Given the description of an element on the screen output the (x, y) to click on. 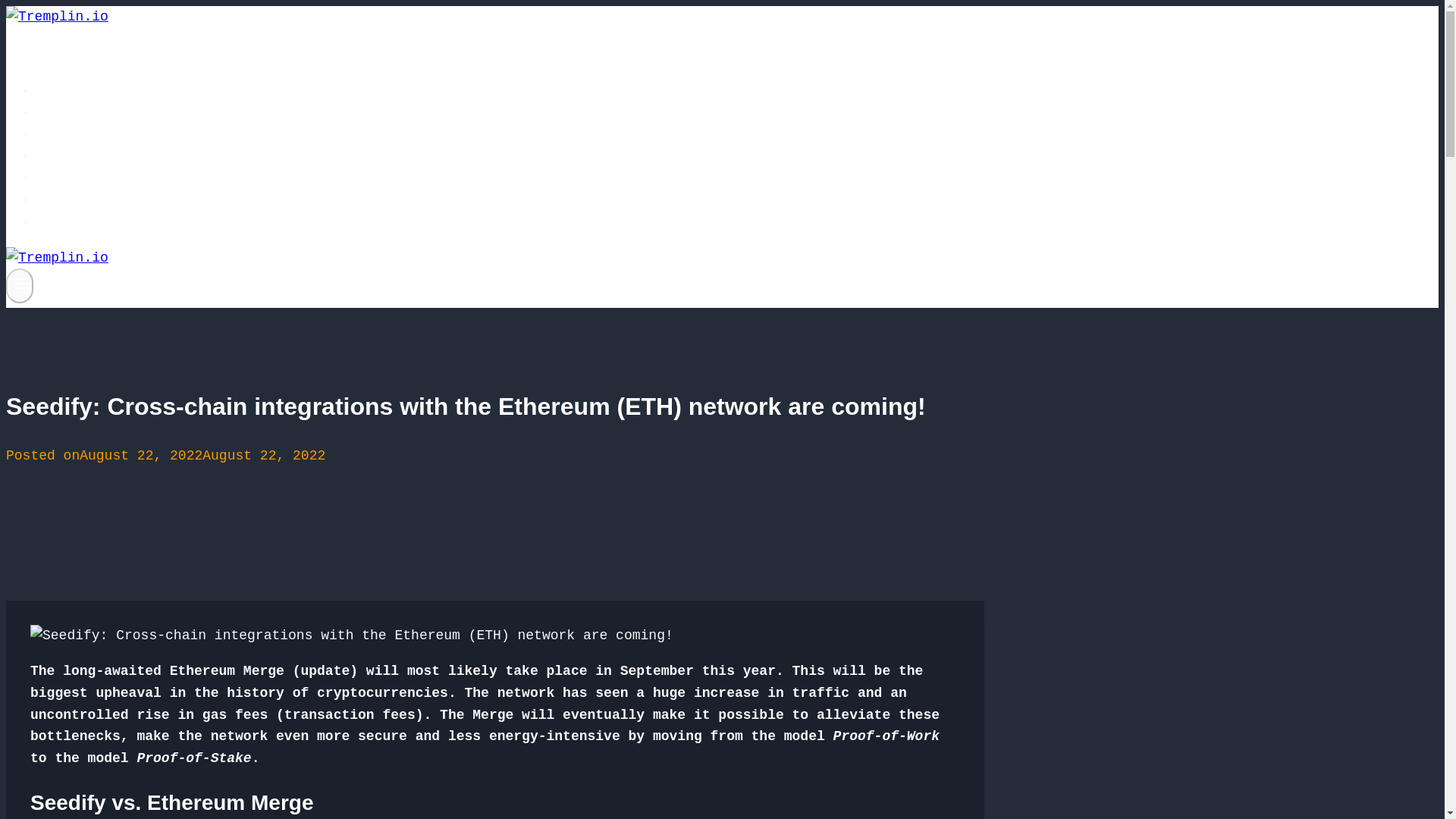
Toggle Menu (22, 283)
Services (82, 112)
News (66, 200)
Tremplin.io (95, 91)
Who are we? (95, 134)
FAQ (61, 156)
Consulting (90, 178)
Contact (78, 222)
